Given the description of an element on the screen output the (x, y) to click on. 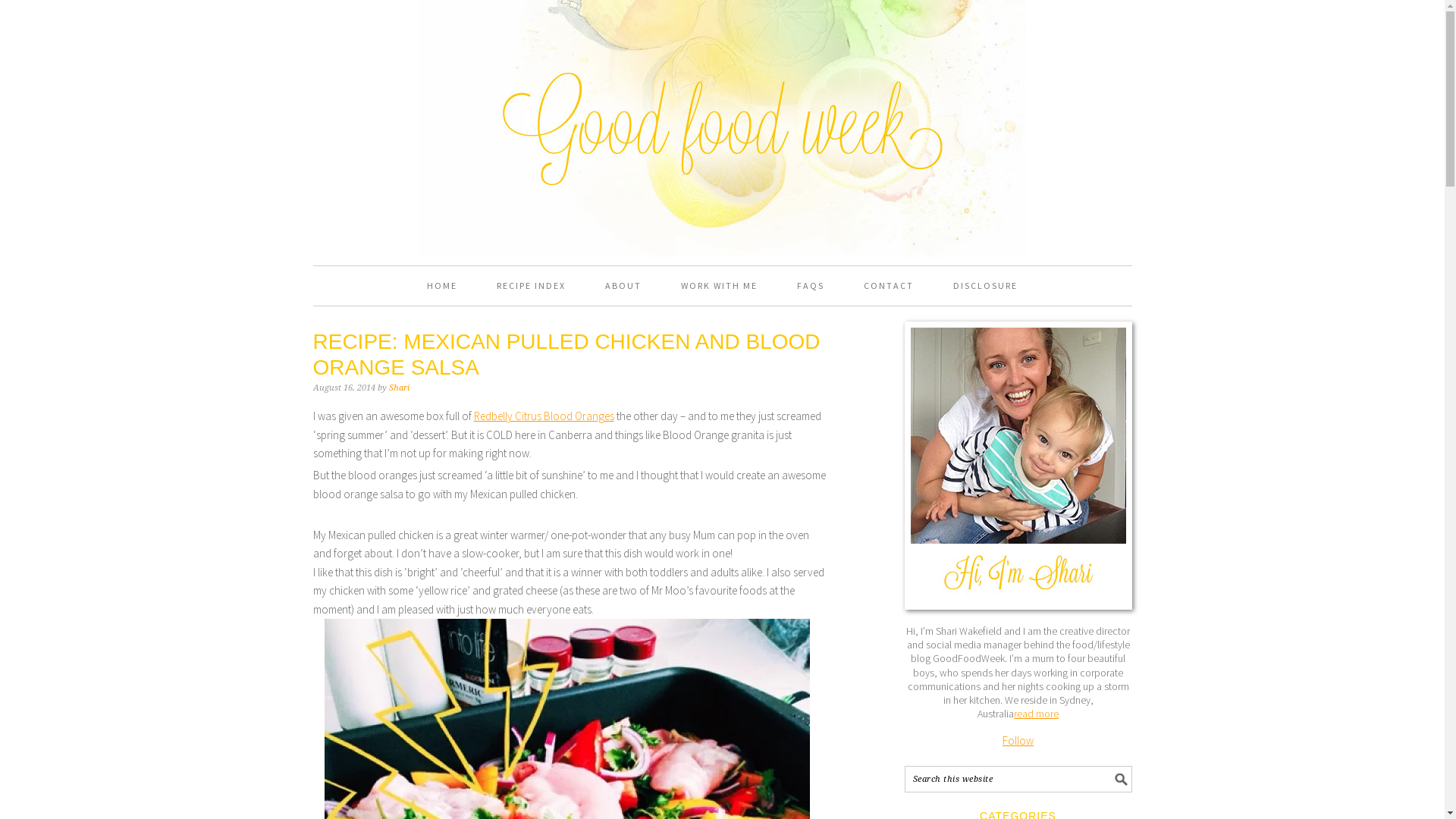
GOODFOODWEEK Element type: text (721, 77)
WORK WITH ME Element type: text (719, 285)
Follow Element type: text (1017, 740)
FAQS Element type: text (810, 285)
RECIPE INDEX Element type: text (530, 285)
ABOUT Element type: text (623, 285)
DISCLOSURE Element type: text (985, 285)
read more Element type: text (1035, 713)
Redbelly Citrus Blood Oranges Element type: text (543, 415)
Shari Element type: text (398, 387)
CONTACT Element type: text (888, 285)
HOME Element type: text (441, 285)
Search Element type: text (1131, 765)
